Given the description of an element on the screen output the (x, y) to click on. 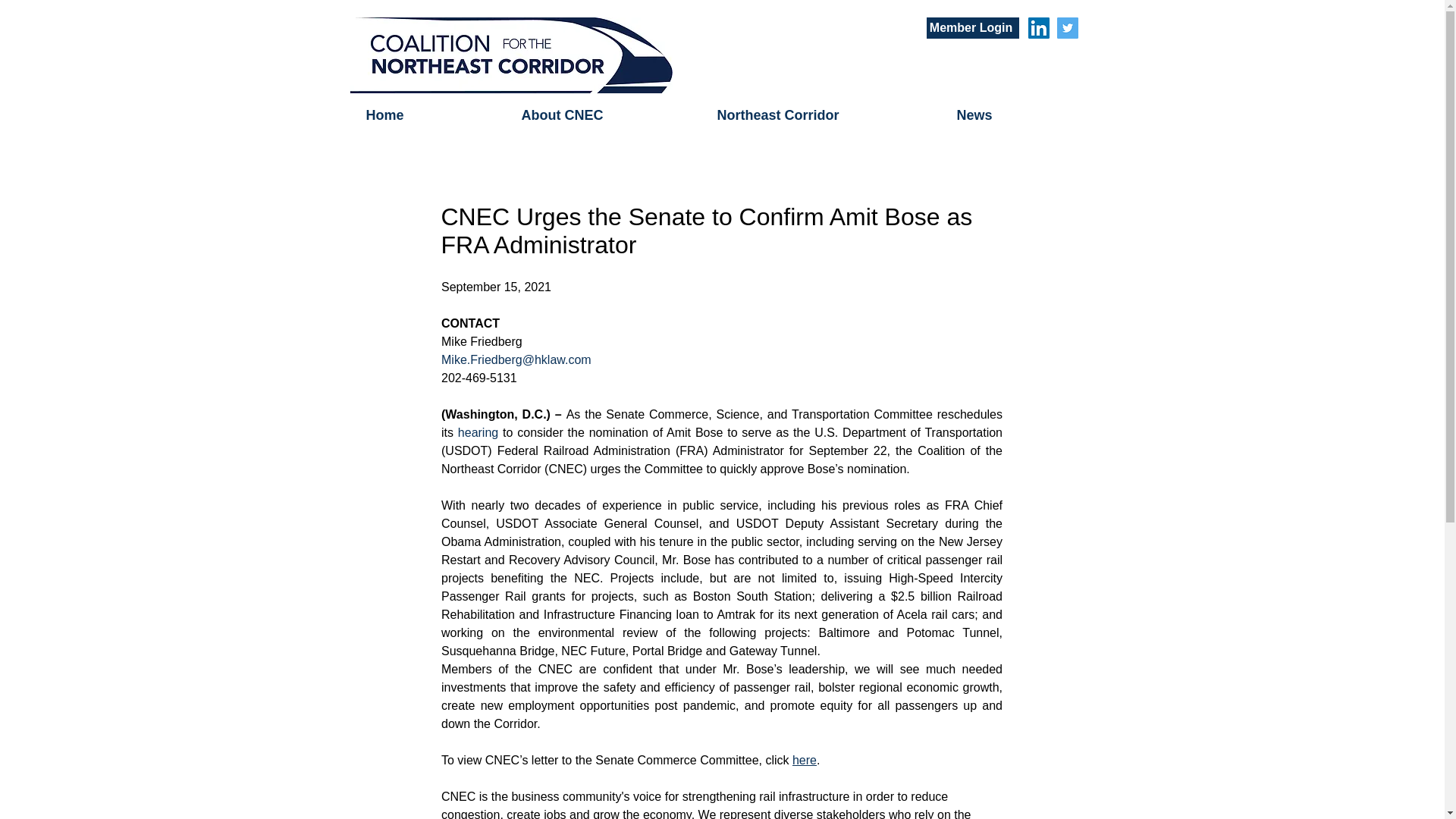
hearing (477, 431)
here (803, 759)
Northeast Corridor (824, 115)
Member Login (972, 27)
Home (433, 115)
News (1020, 115)
About CNEC (606, 115)
